Given the description of an element on the screen output the (x, y) to click on. 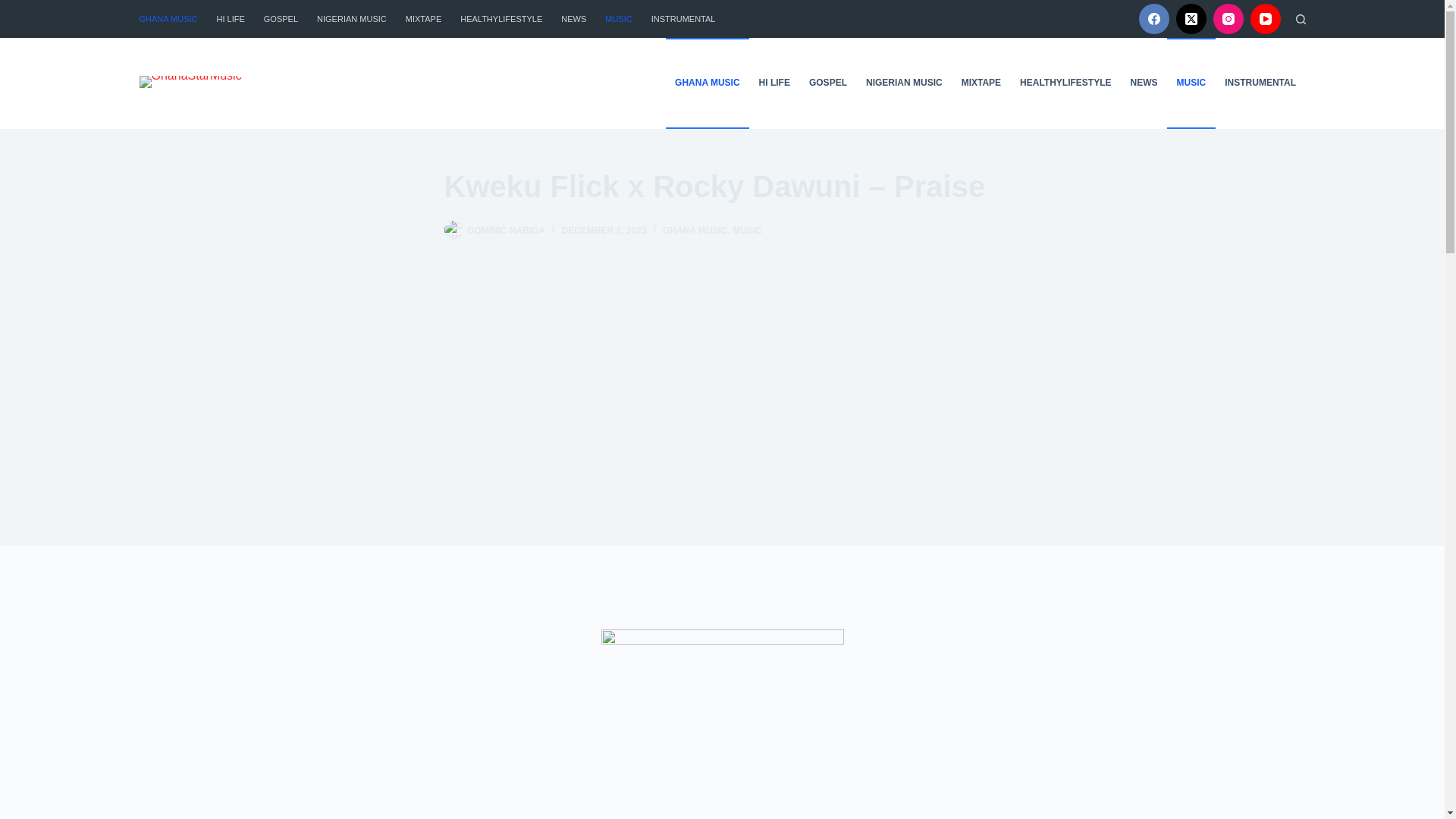
Posts by Dominic Nabiga (505, 230)
NIGERIAN MUSIC (904, 82)
MIXTAPE (422, 18)
GHANA MUSIC (173, 18)
NEWS (573, 18)
INSTRUMENTAL (683, 18)
HEALTHYLIFESTYLE (501, 18)
NIGERIAN MUSIC (351, 18)
GOSPEL (280, 18)
GHANA MUSIC (707, 82)
HEALTHYLIFESTYLE (1065, 82)
HI LIFE (229, 18)
Skip to content (15, 7)
MUSIC (618, 18)
